Given the description of an element on the screen output the (x, y) to click on. 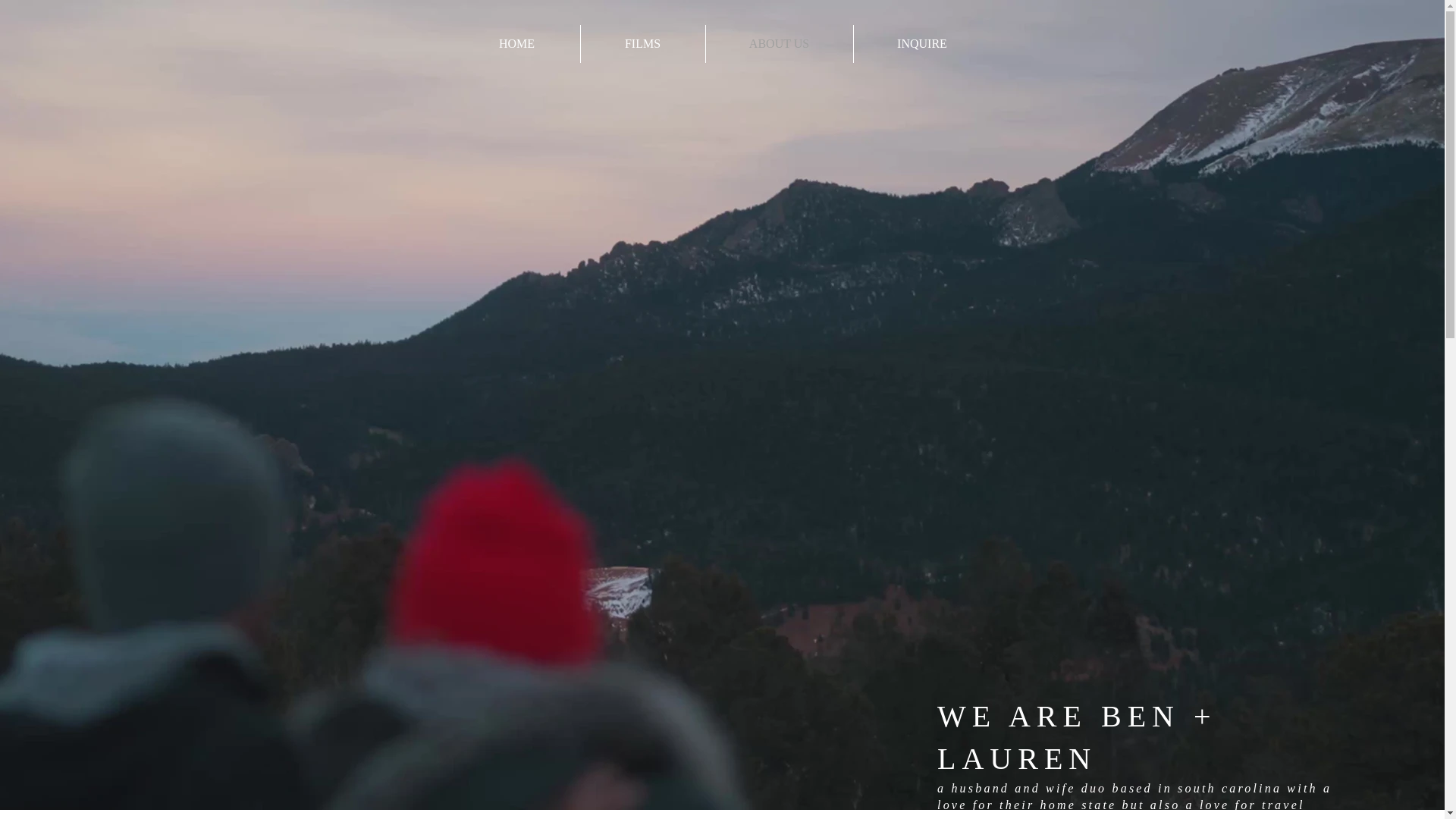
FILMS (642, 44)
ABOUT US (777, 44)
INQUIRE (922, 44)
HOME (515, 44)
